Given the description of an element on the screen output the (x, y) to click on. 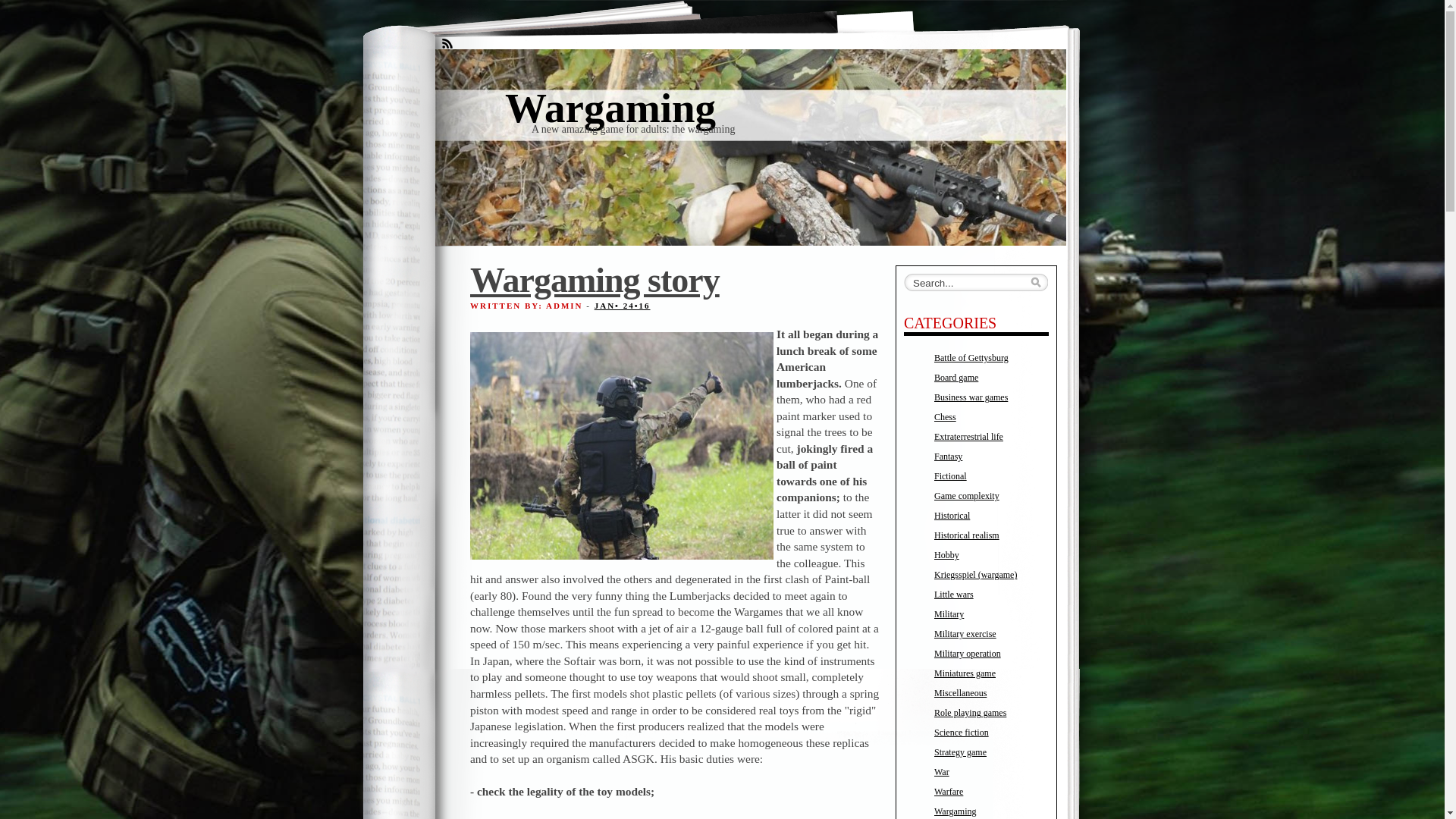
Fictional Element type: text (950, 475)
Kriegsspiel (wargame) Element type: text (975, 574)
Business war games Element type: text (970, 397)
Wargaming story Element type: text (594, 282)
Military exercise Element type: text (965, 633)
Miscellaneous Element type: text (960, 692)
Military operation Element type: text (967, 653)
Role playing games Element type: text (970, 712)
Fantasy Element type: text (948, 456)
Little wars Element type: text (953, 594)
Warfare Element type: text (948, 791)
Historical realism Element type: text (966, 535)
Board game Element type: text (956, 377)
Battle of Gettysburg Element type: text (971, 357)
Extraterrestrial life Element type: text (968, 436)
Science fiction Element type: text (961, 732)
Strategy game Element type: text (960, 751)
Historical Element type: text (951, 515)
Chess Element type: text (945, 416)
Military Element type: text (948, 613)
Game complexity Element type: text (966, 495)
War Element type: text (941, 771)
Miniatures game Element type: text (964, 673)
Hobby Element type: text (946, 554)
Wargaming Element type: text (954, 811)
